Given the description of an element on the screen output the (x, y) to click on. 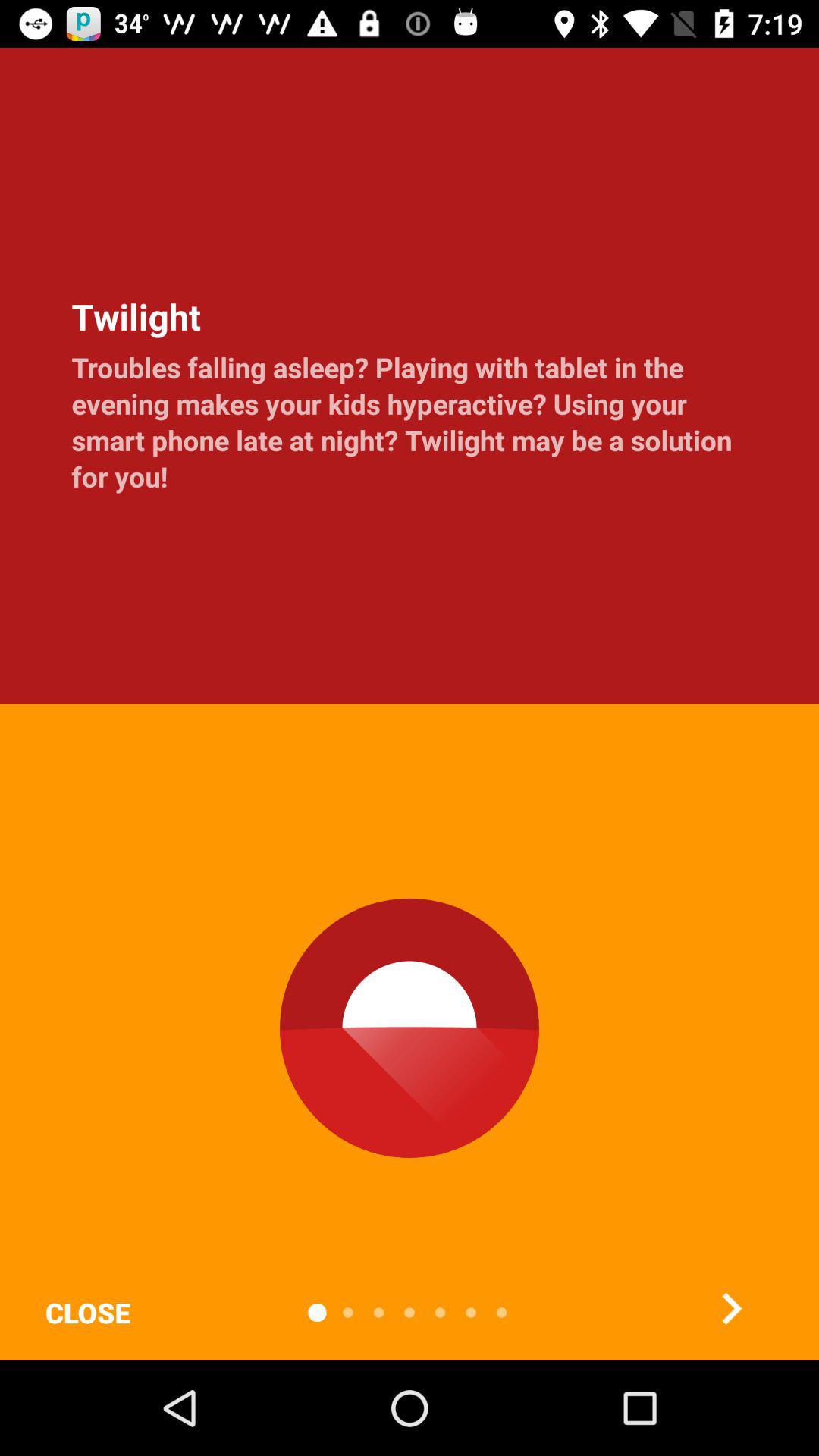
choose the close at the bottom left corner (87, 1312)
